Given the description of an element on the screen output the (x, y) to click on. 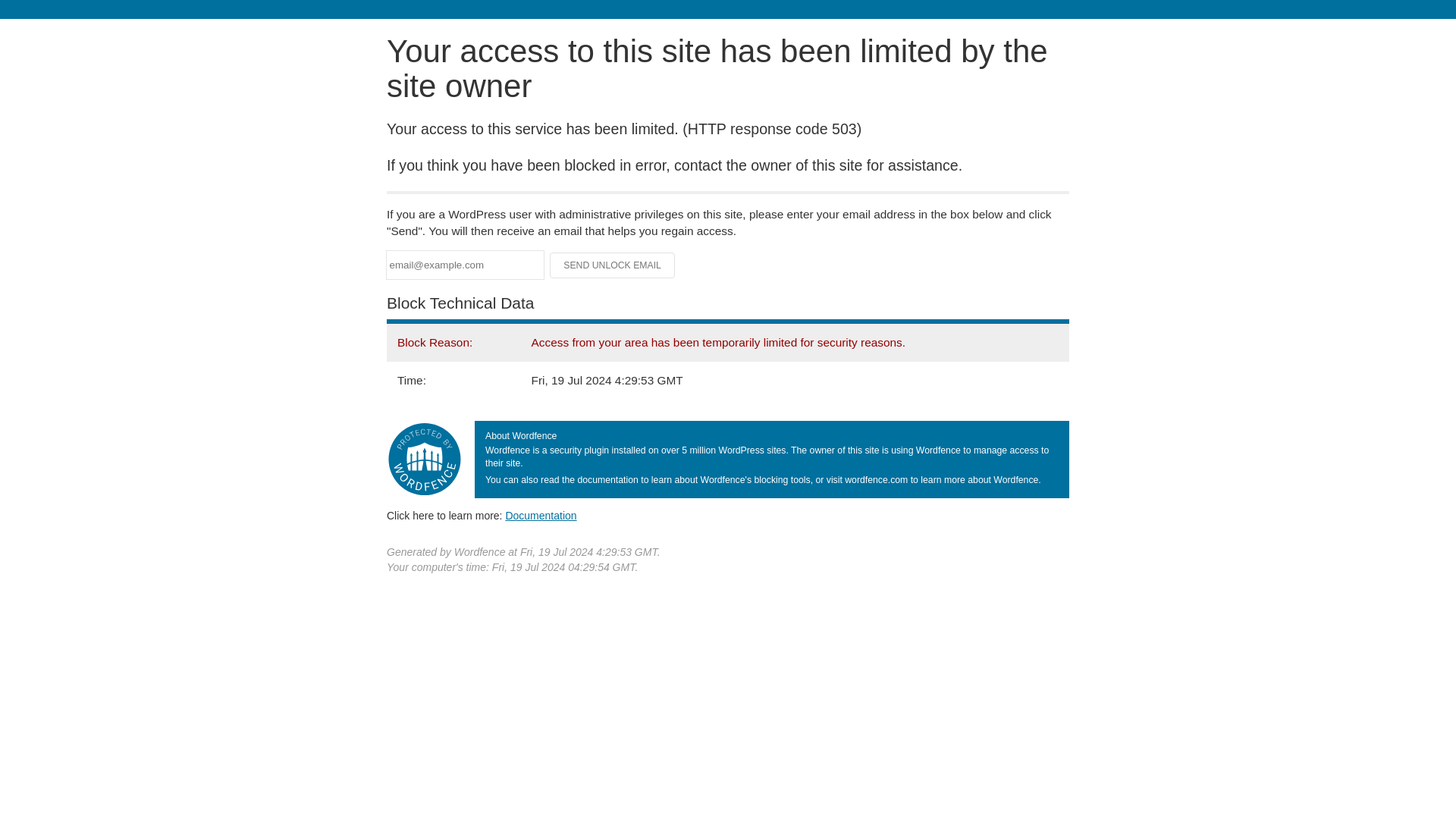
Send Unlock Email (612, 265)
Documentation (540, 515)
Send Unlock Email (612, 265)
